Given the description of an element on the screen output the (x, y) to click on. 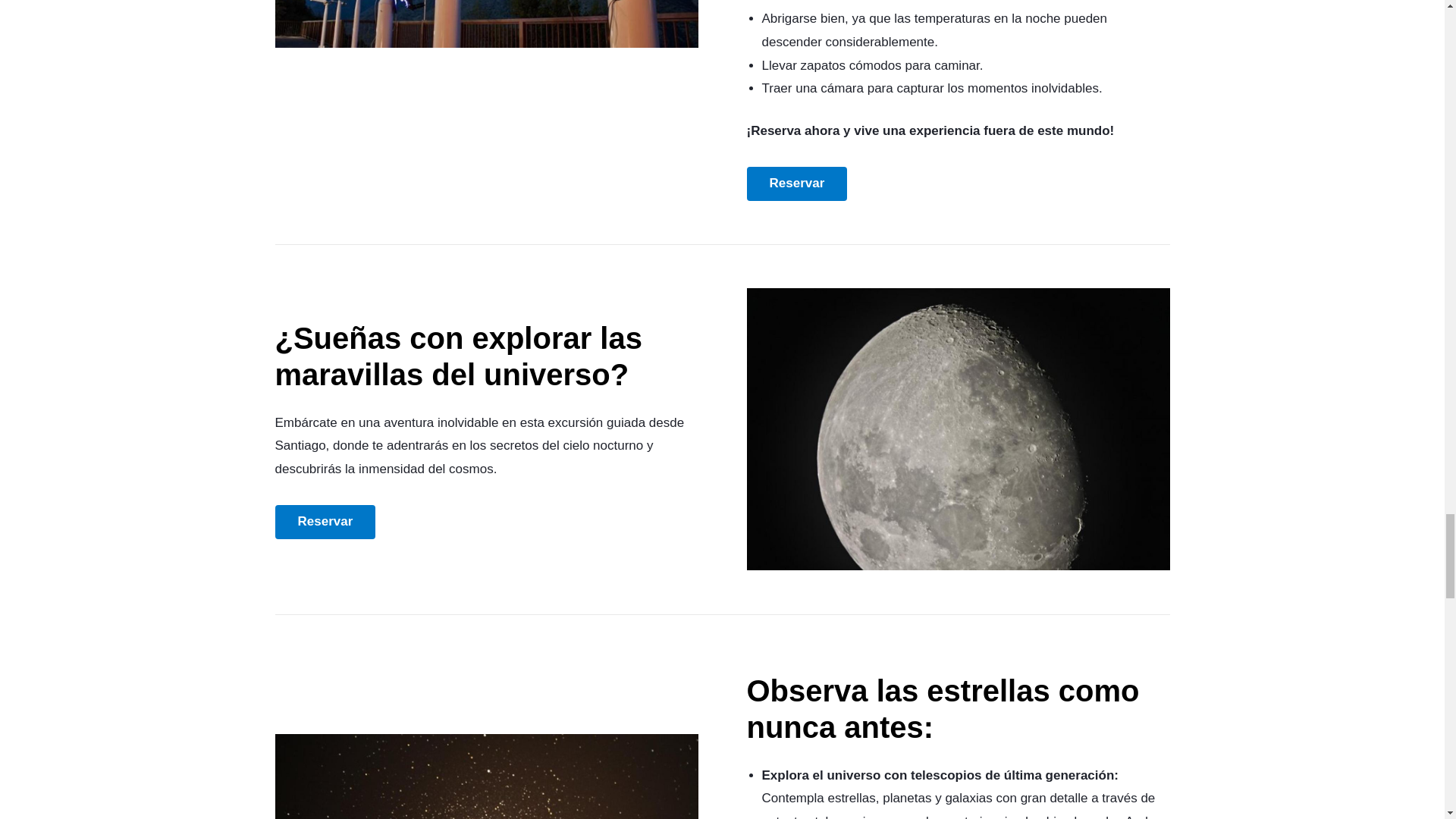
Reservar (325, 521)
Reservar (796, 183)
